Given the description of an element on the screen output the (x, y) to click on. 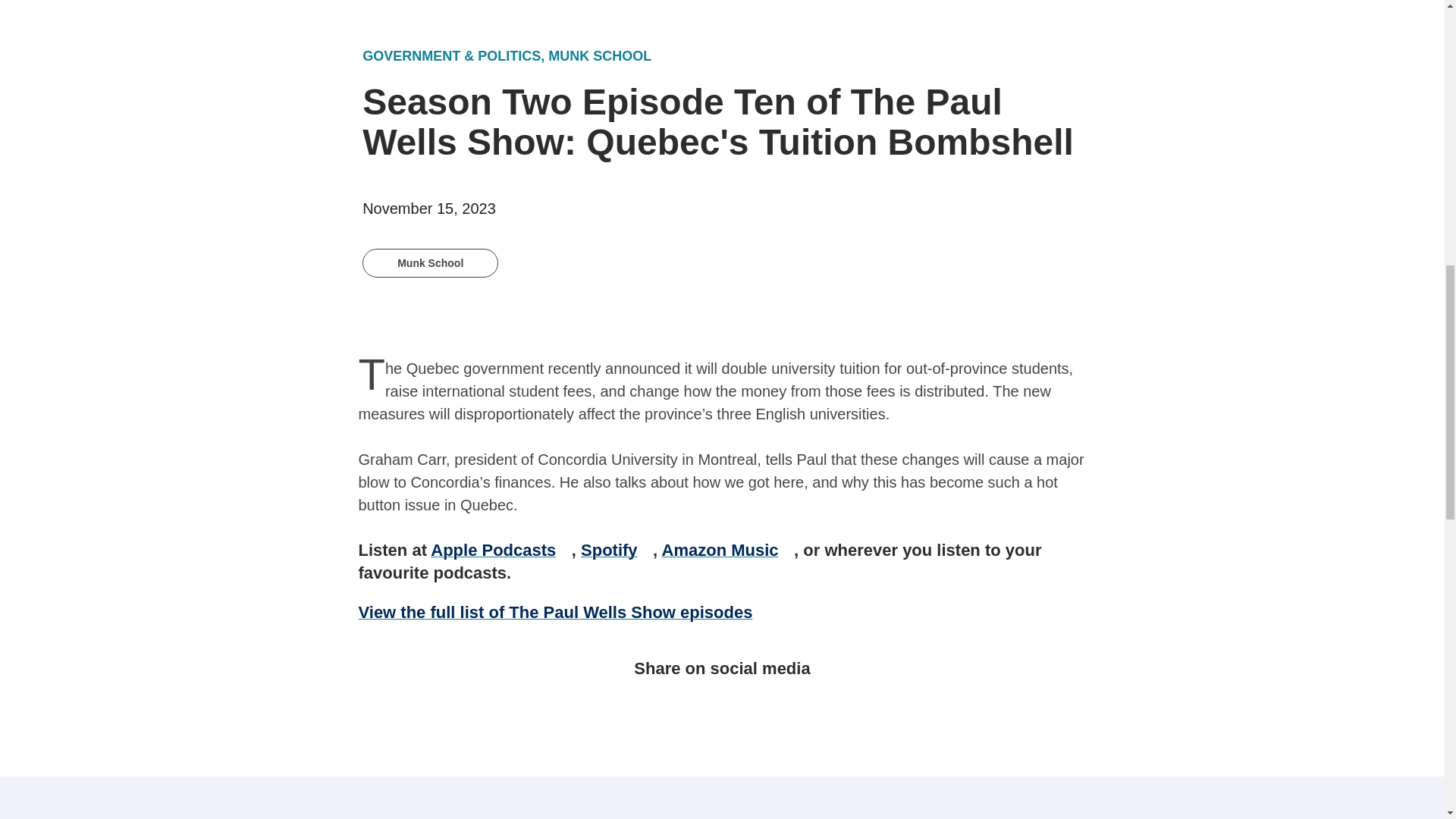
The Paul Wells Show (562, 611)
